Given the description of an element on the screen output the (x, y) to click on. 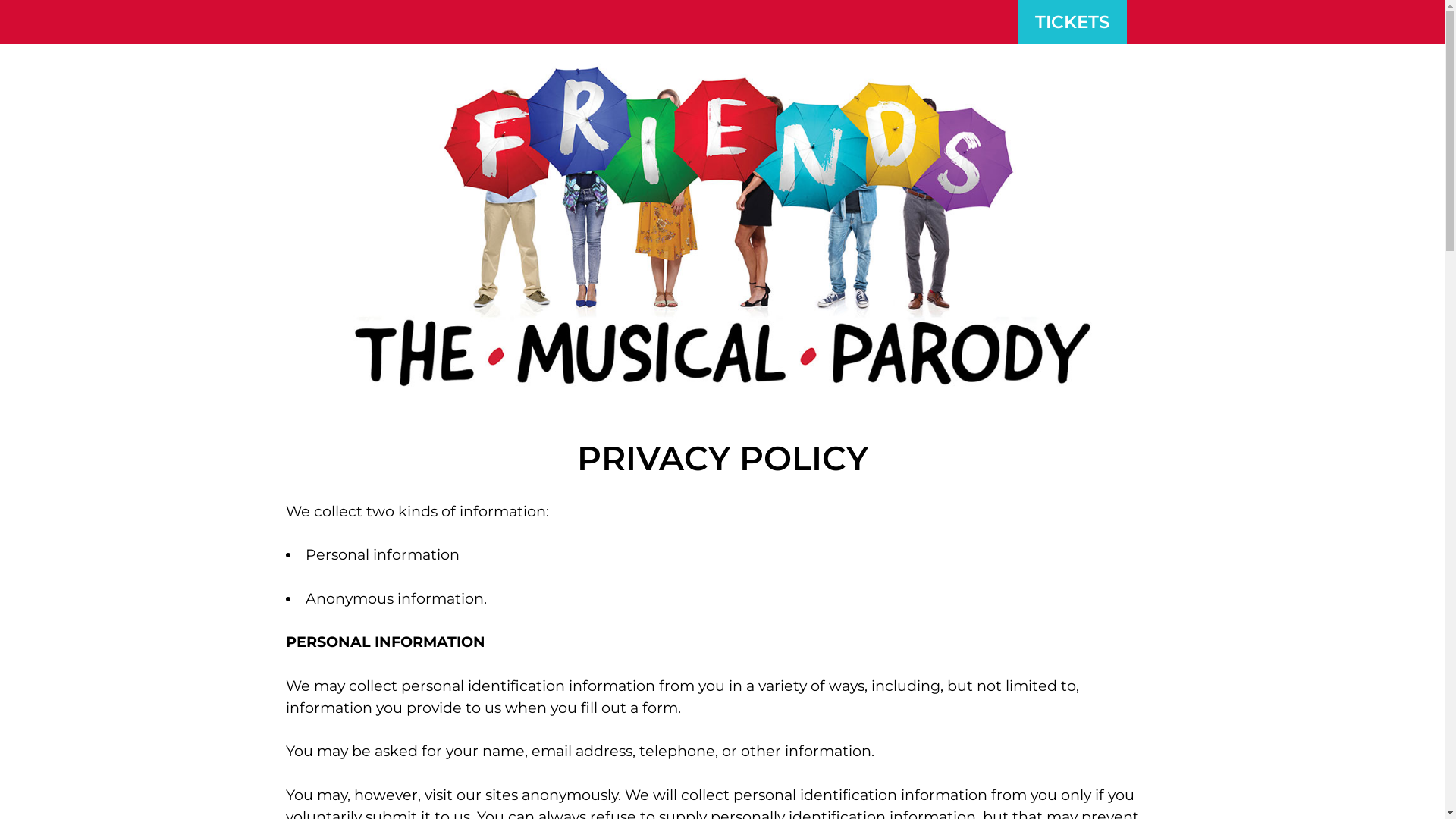
TICKETS Element type: text (1071, 21)
